Given the description of an element on the screen output the (x, y) to click on. 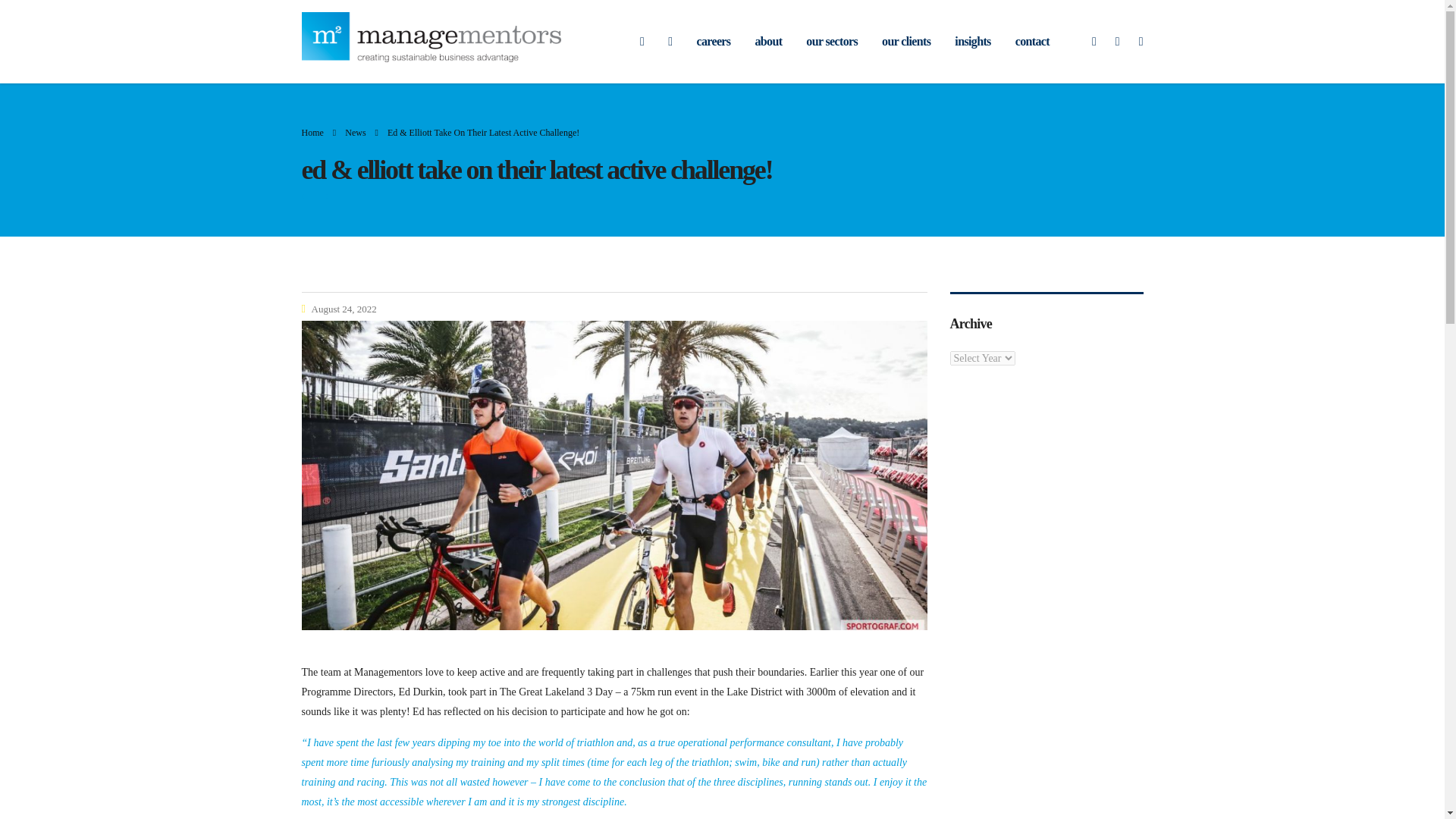
Go to News. (355, 132)
our clients (905, 41)
careers (713, 41)
our sectors (831, 41)
insights (972, 41)
about (767, 41)
Go to Managementors. (312, 132)
contact (1032, 41)
